Given the description of an element on the screen output the (x, y) to click on. 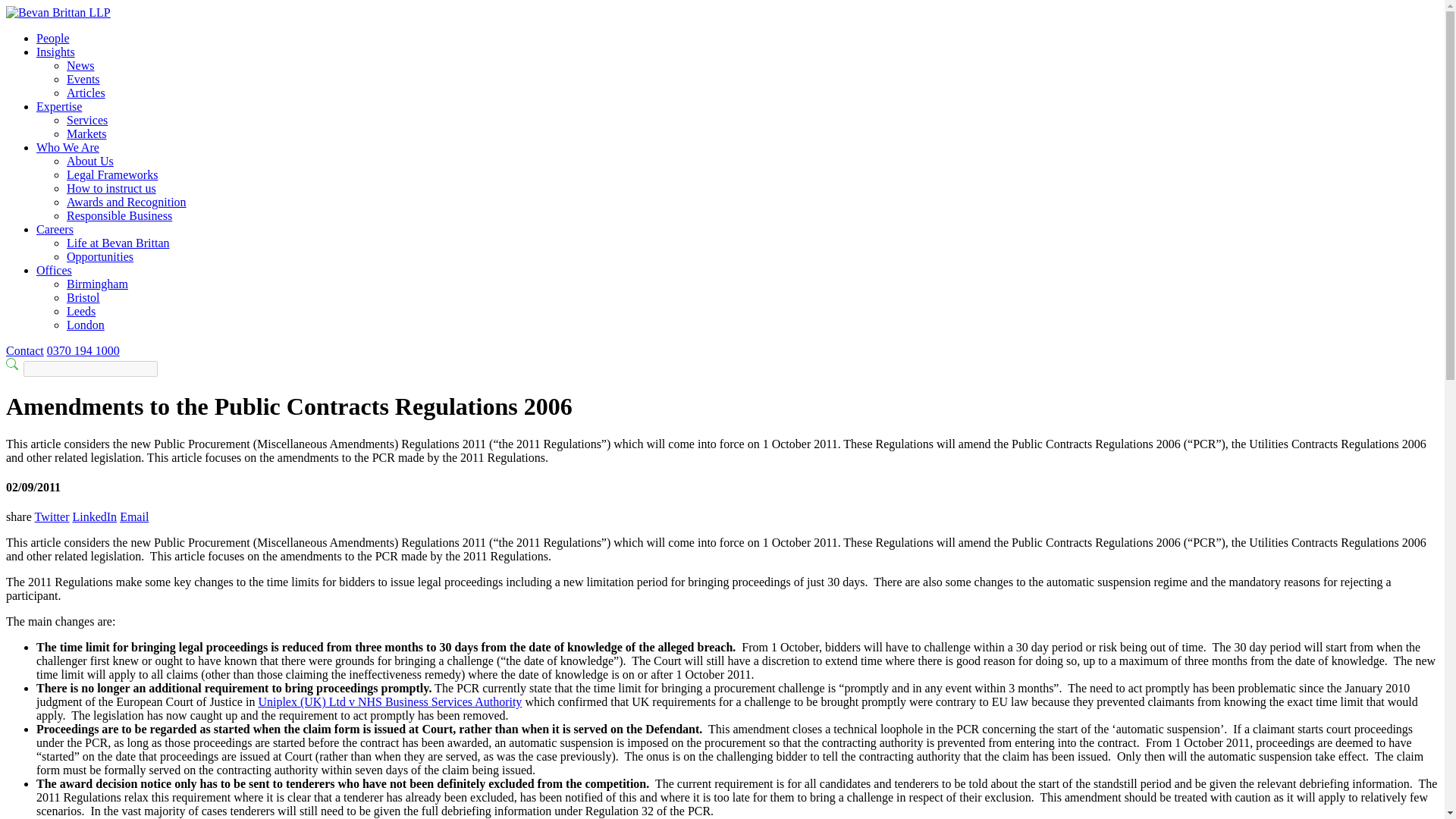
Email (133, 516)
Markets (86, 133)
Opportunities (99, 256)
LinkedIn (93, 516)
Insights (55, 51)
Legal Frameworks (111, 174)
Offices (53, 269)
0370 194 1000 (82, 350)
Services (86, 119)
Events (83, 78)
